Given the description of an element on the screen output the (x, y) to click on. 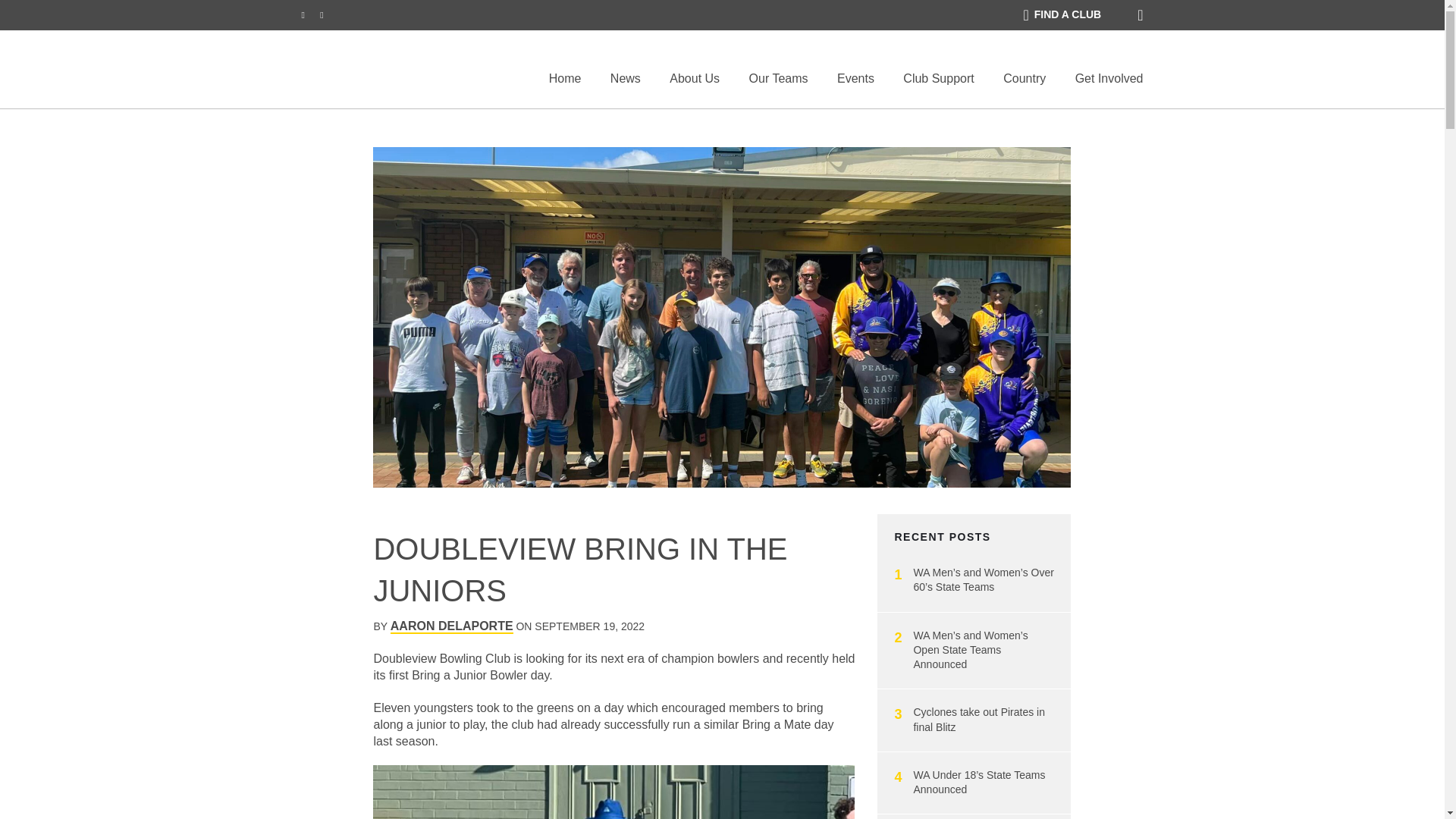
FIND A CLUB (1061, 15)
